Given the description of an element on the screen output the (x, y) to click on. 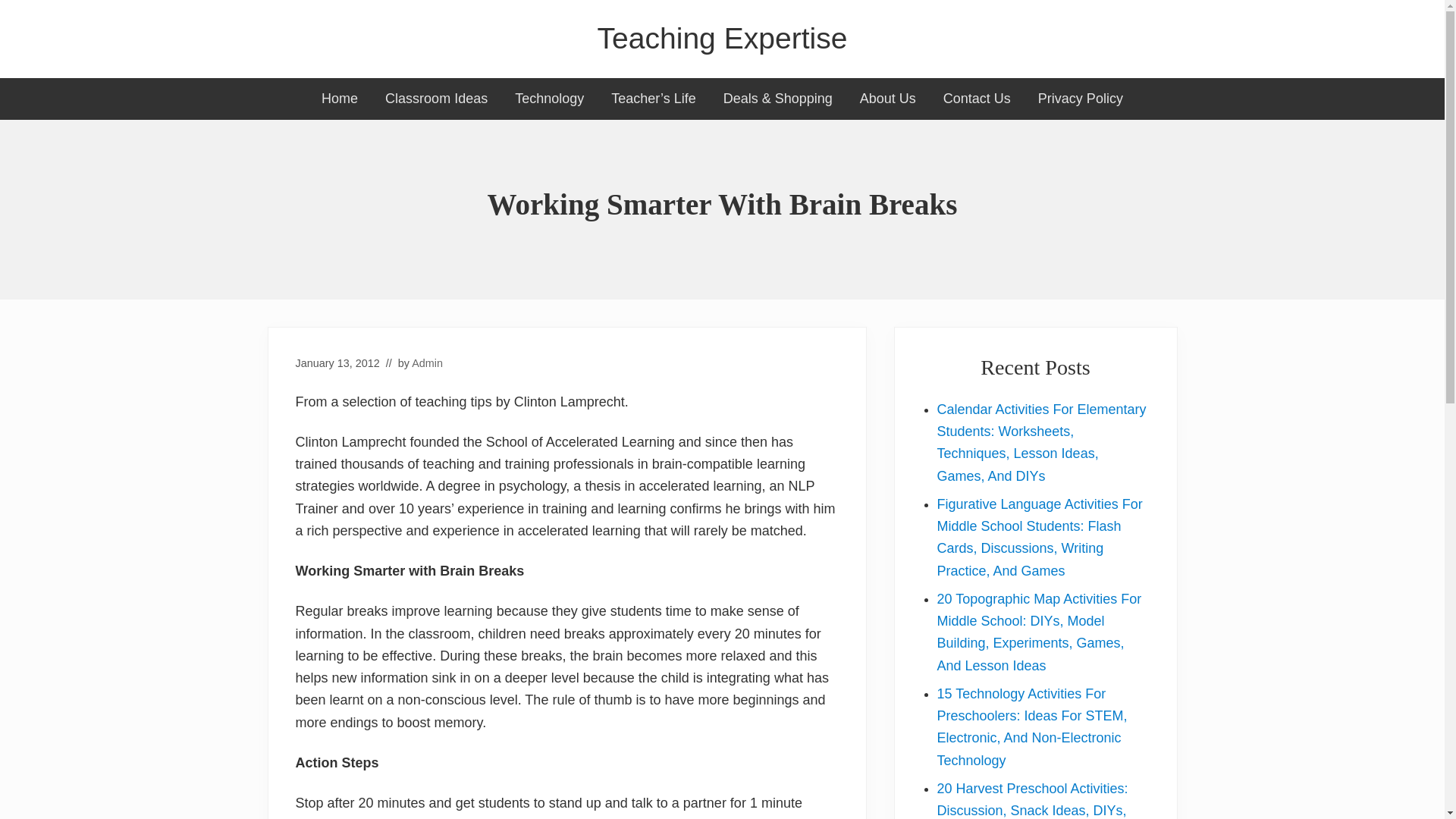
Classroom Ideas (435, 98)
About Us (887, 98)
Privacy Policy (1081, 98)
Technology (548, 98)
Admin (427, 363)
